Given the description of an element on the screen output the (x, y) to click on. 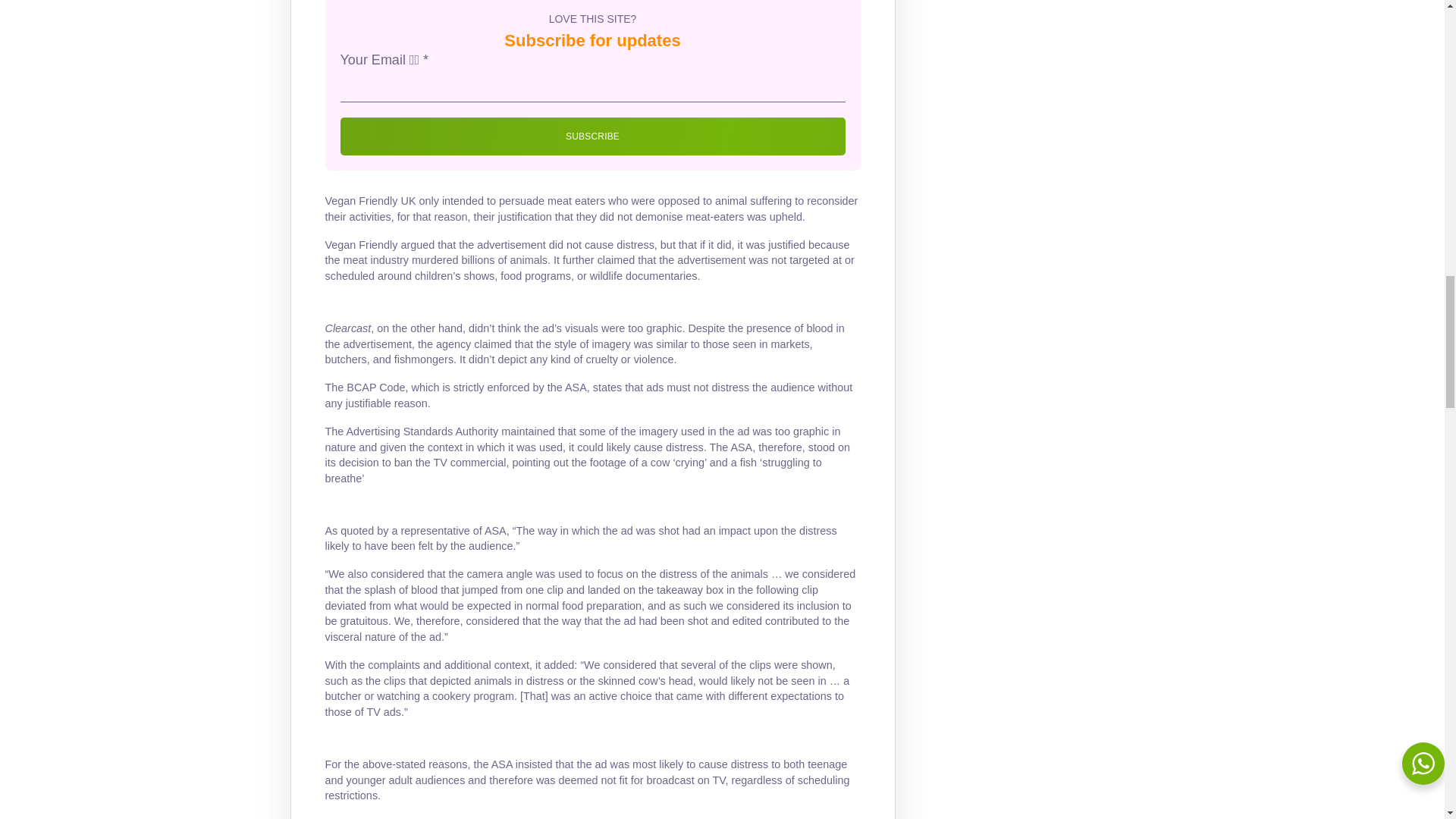
Subscribe (591, 136)
Subscribe (591, 136)
